Given the description of an element on the screen output the (x, y) to click on. 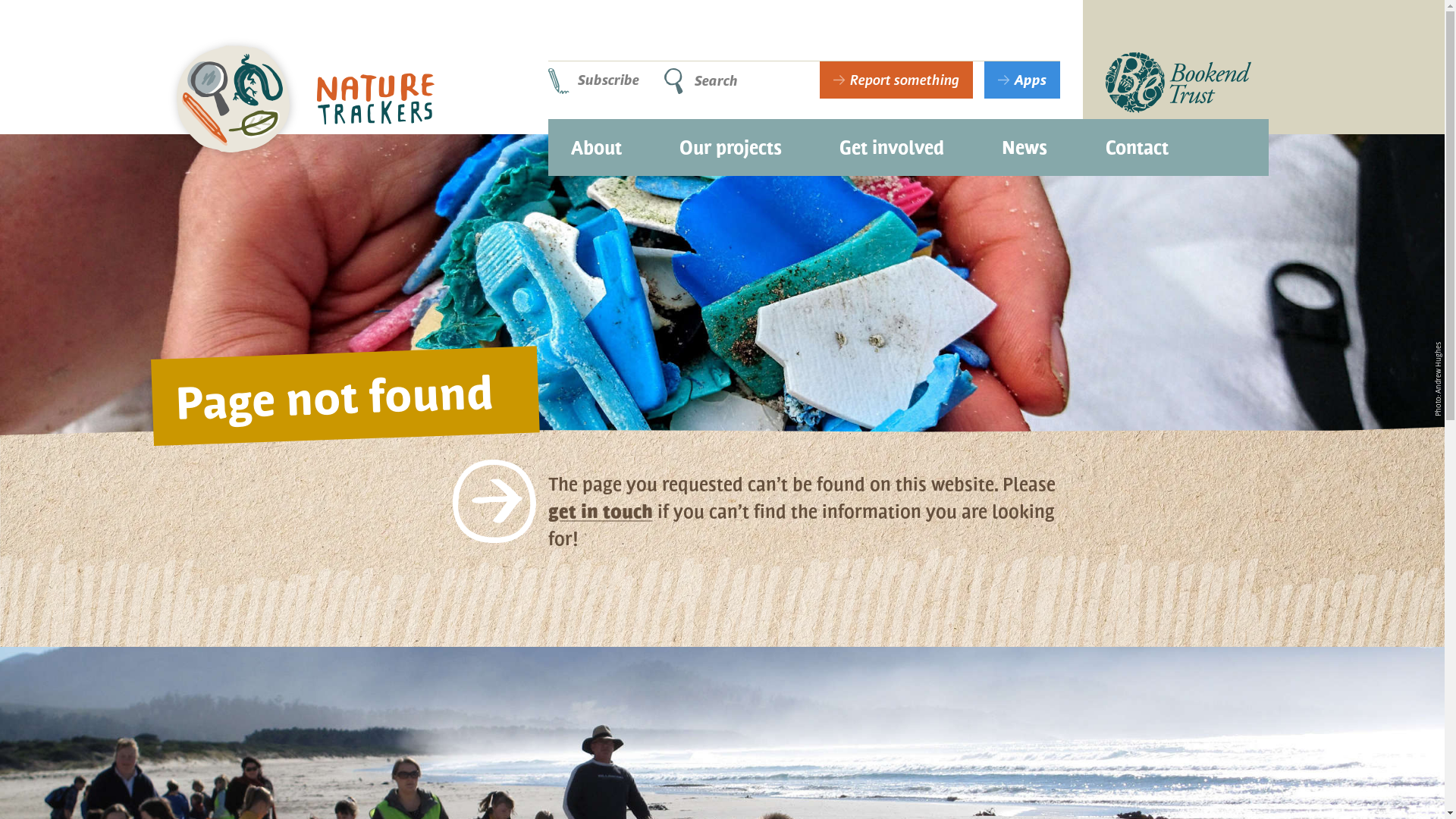
Report something Element type: text (895, 79)
Get involved Element type: text (891, 141)
News Element type: text (1024, 141)
Our projects Element type: text (730, 141)
Contact Element type: text (1136, 141)
Subscribe Element type: text (599, 79)
Apps Element type: text (1022, 79)
About Element type: text (595, 141)
get in touch Element type: text (599, 510)
